Given the description of an element on the screen output the (x, y) to click on. 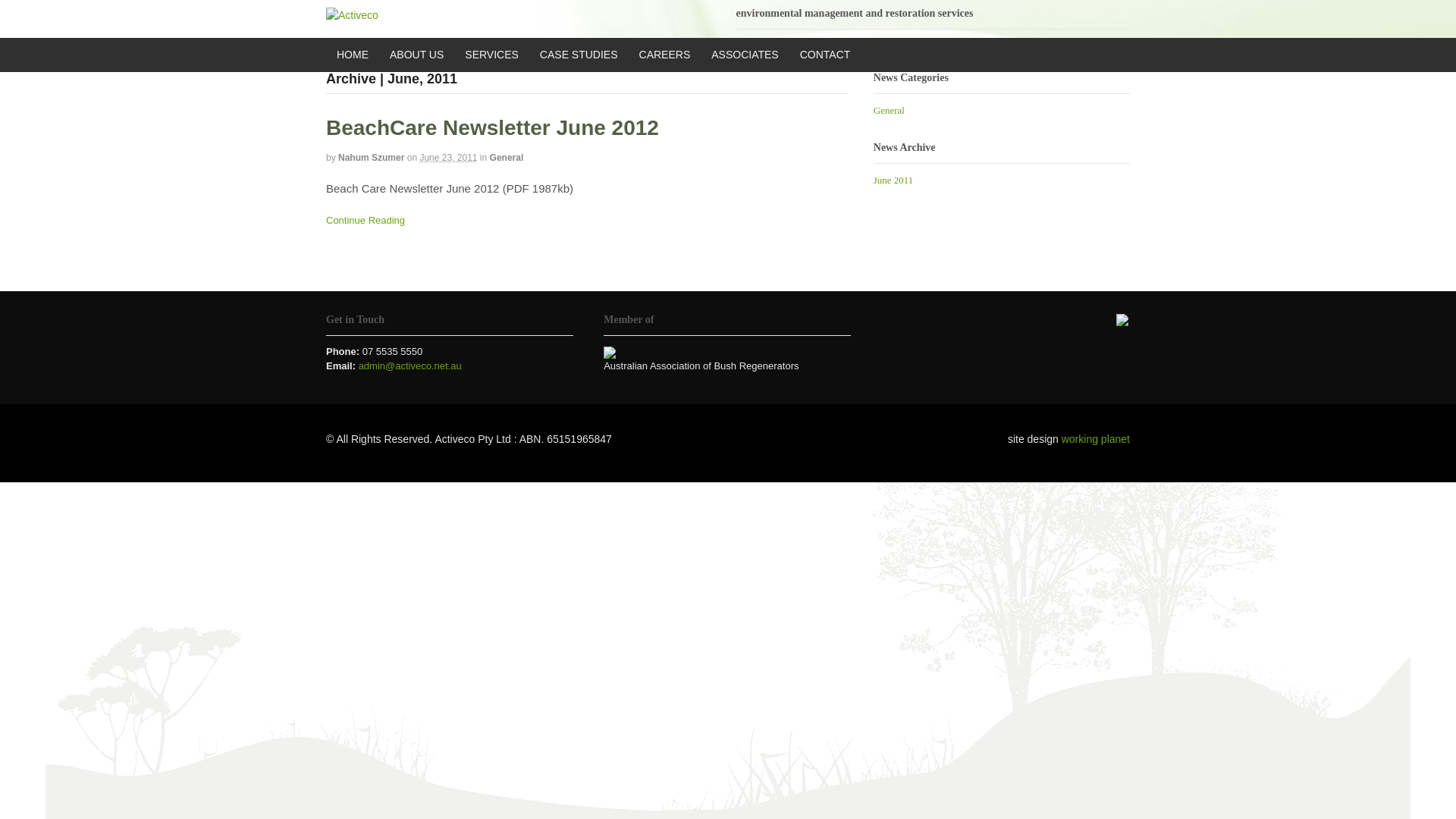
Nahum Szumer Element type: text (371, 157)
CAREERS Element type: text (664, 54)
General Element type: text (506, 157)
ABOUT US Element type: text (416, 54)
General Element type: text (888, 110)
admin@activeco.net.au Element type: text (409, 365)
working planet Element type: text (1095, 439)
environmental management and restoration services Element type: hover (352, 15)
CASE STUDIES Element type: text (578, 54)
CONTACT Element type: text (825, 54)
BeachCare Newsletter June 2012 Element type: text (492, 127)
HOME Element type: text (352, 54)
Continue Reading Element type: text (365, 219)
SERVICES Element type: text (491, 54)
ASSOCIATES Element type: text (744, 54)
June 2011 Element type: text (893, 179)
